Given the description of an element on the screen output the (x, y) to click on. 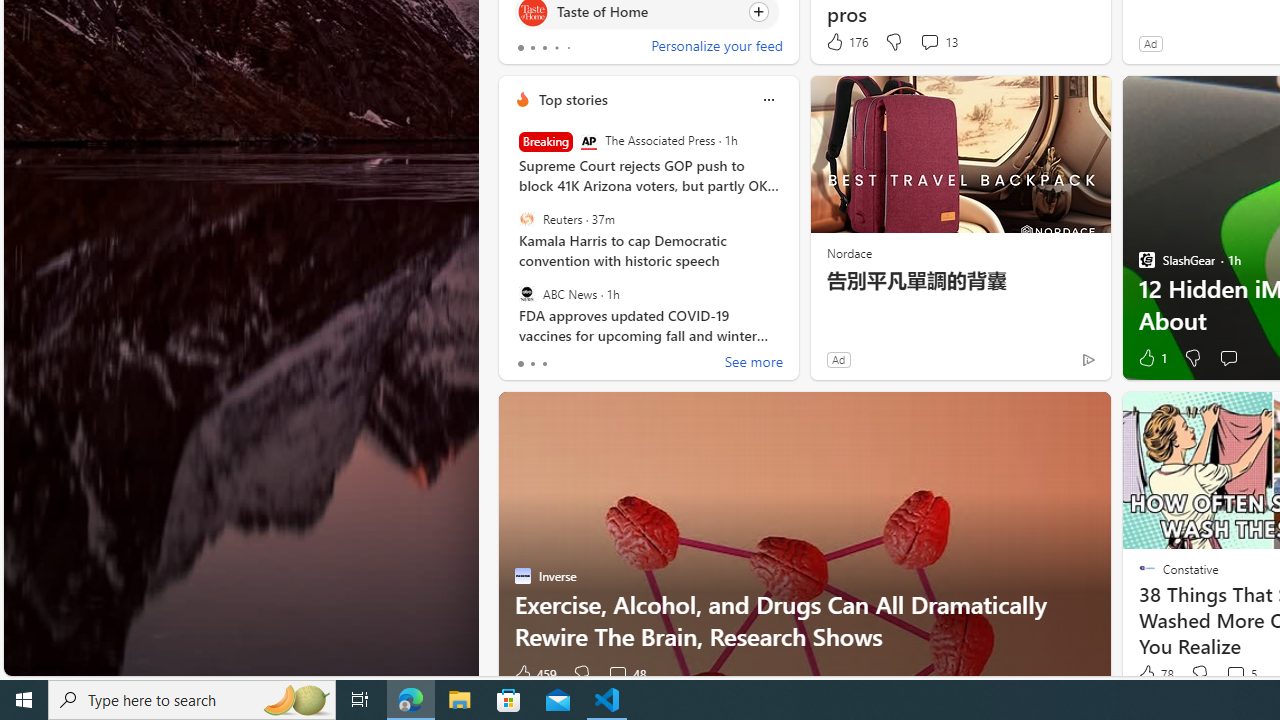
78 Like (1154, 674)
View comments 48 Comment (617, 673)
View comments 48 Comment (626, 674)
tab-1 (532, 363)
tab-4 (567, 47)
View comments 13 Comment (929, 41)
Personalize your feed (716, 47)
ABC News (526, 293)
